Given the description of an element on the screen output the (x, y) to click on. 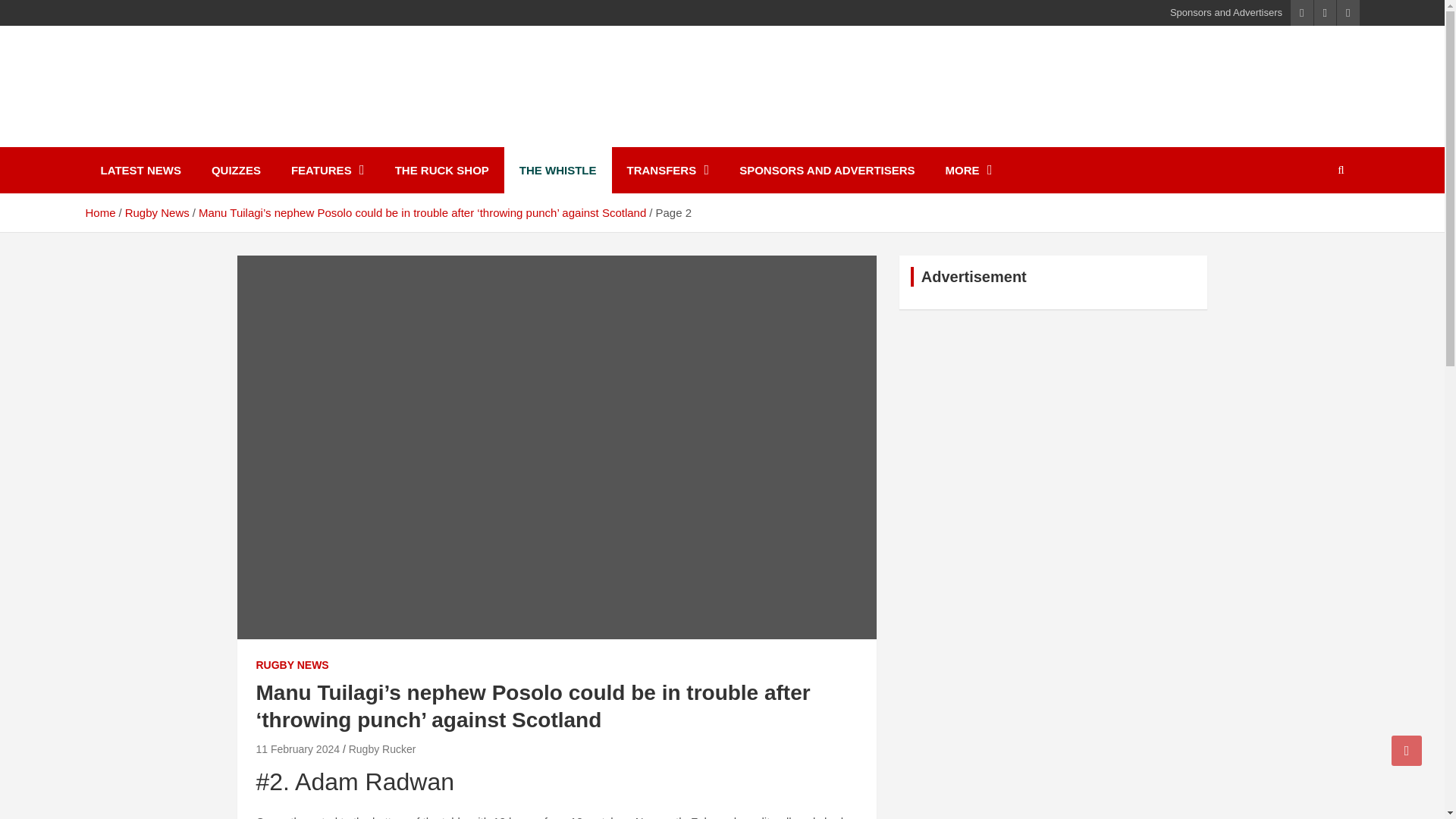
TRANSFERS (667, 170)
Rugby Rucker (382, 748)
QUIZZES (236, 170)
THE WHISTLE (557, 170)
RUGBY NEWS (292, 665)
Home (99, 212)
MORE (968, 170)
Ruck (121, 136)
Sponsors and Advertisers (1226, 12)
11 February 2024 (298, 748)
THE RUCK SHOP (441, 170)
LATEST NEWS (139, 170)
FEATURES (328, 170)
Rugby News (157, 212)
SPONSORS AND ADVERTISERS (826, 170)
